Given the description of an element on the screen output the (x, y) to click on. 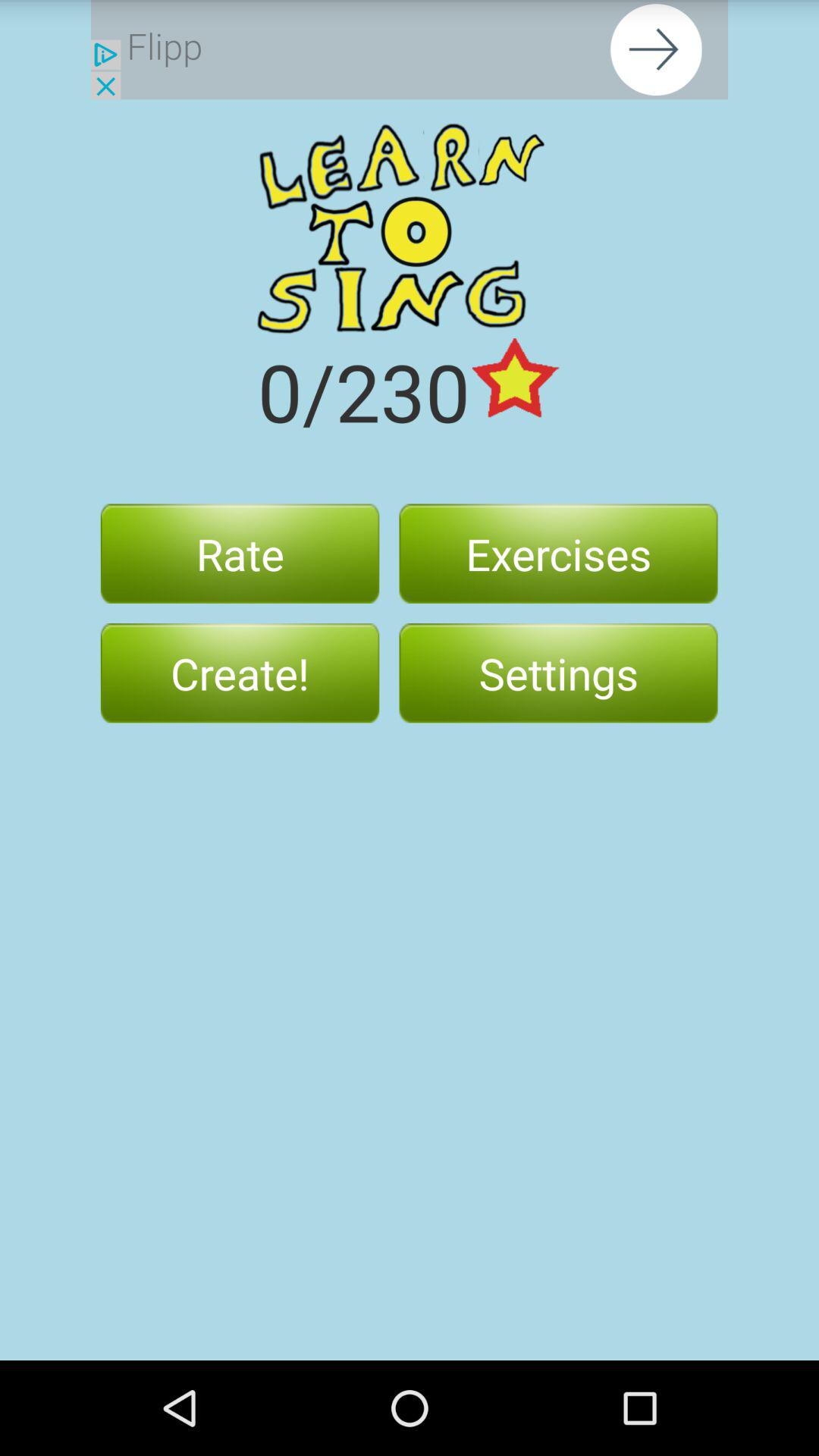
previou page (409, 49)
